Given the description of an element on the screen output the (x, y) to click on. 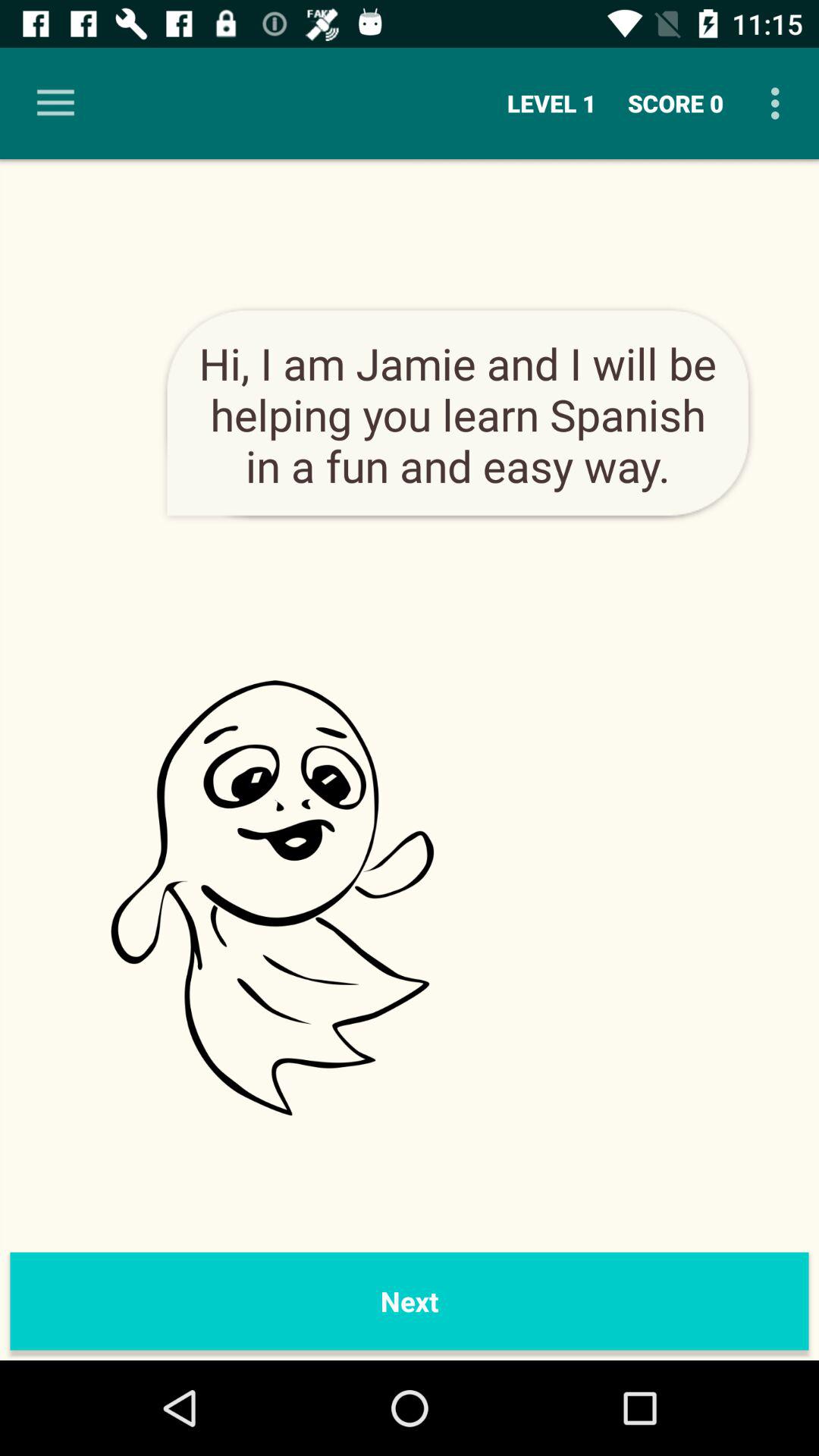
scroll to the hi i am item (457, 413)
